Given the description of an element on the screen output the (x, y) to click on. 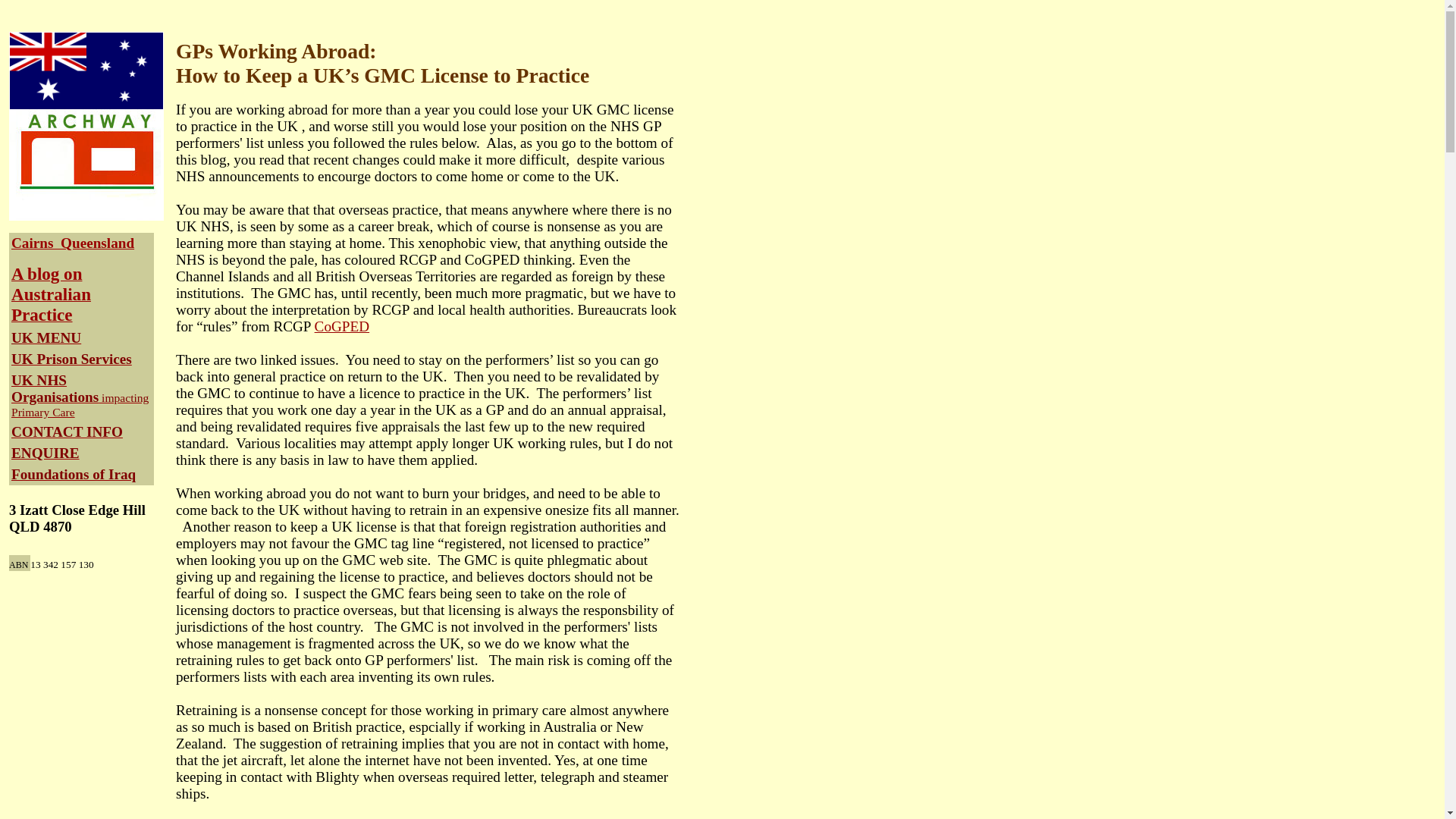
UK MENU Element type: text (46, 337)
UK NHS Organisations impacting Primary Care Element type: text (79, 395)
Foundations of Iraq Element type: text (73, 474)
UK Prison Services Element type: text (71, 359)
Cairns  Queensland Element type: text (72, 243)
A blog on Australian Practice Element type: text (51, 294)
CONTACT INFO Element type: text (66, 431)
ENQUIRE Element type: text (45, 453)
CoGPED Element type: text (342, 326)
Australia Element type: hover (86, 70)
